Given the description of an element on the screen output the (x, y) to click on. 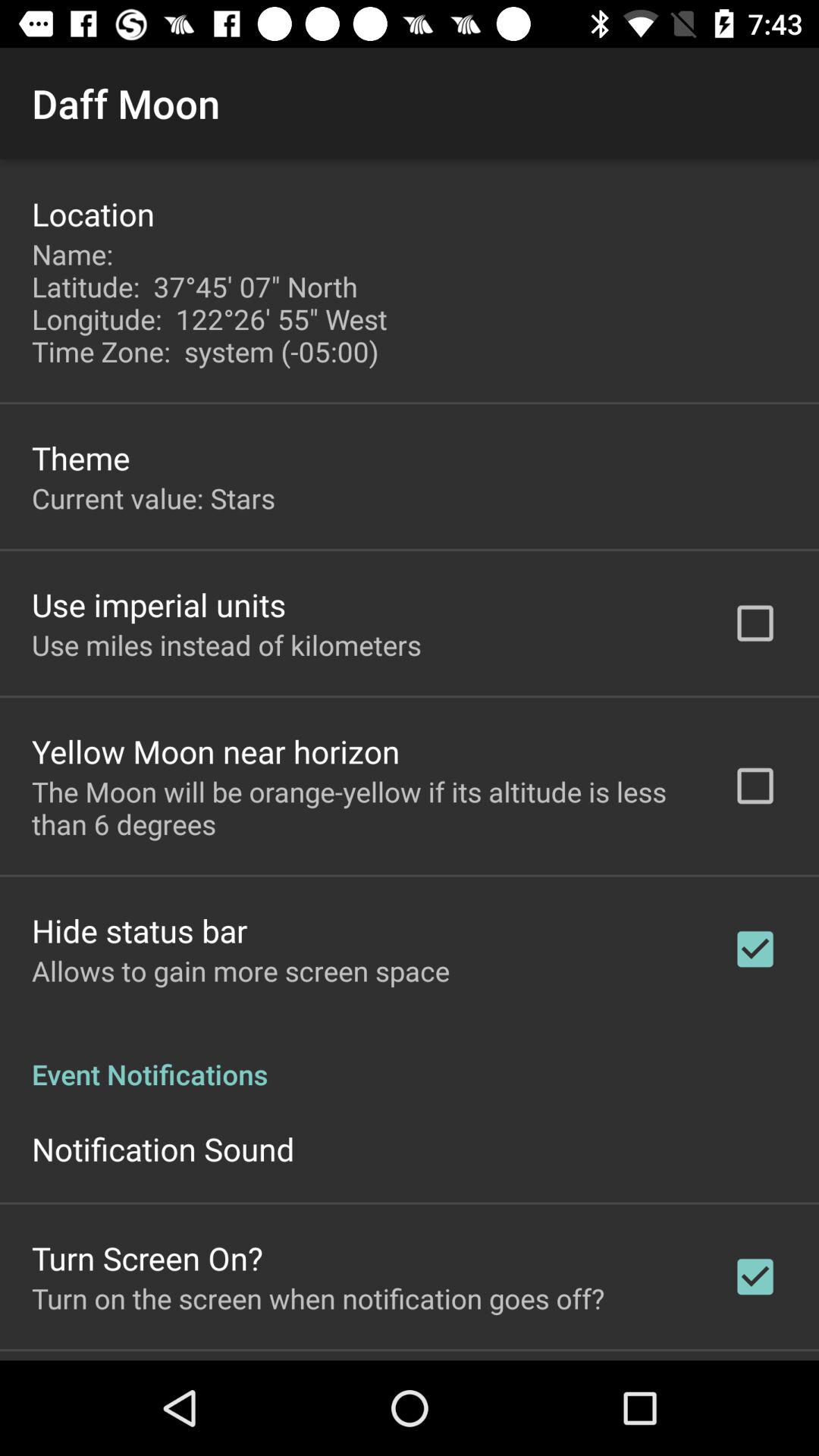
click icon below the moon will item (139, 930)
